Given the description of an element on the screen output the (x, y) to click on. 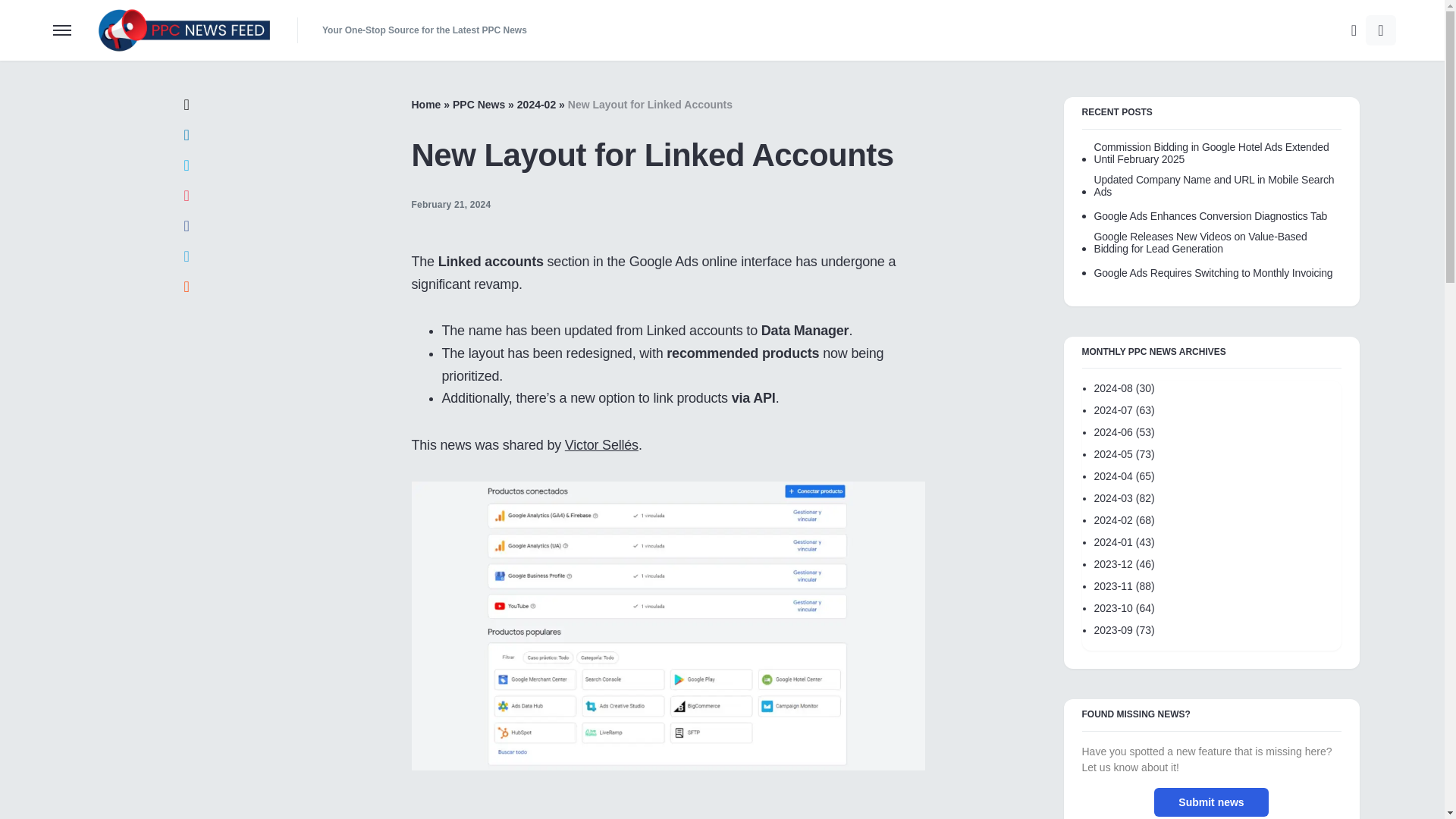
2024-02 (536, 104)
PPC News (478, 104)
Home (425, 104)
